Given the description of an element on the screen output the (x, y) to click on. 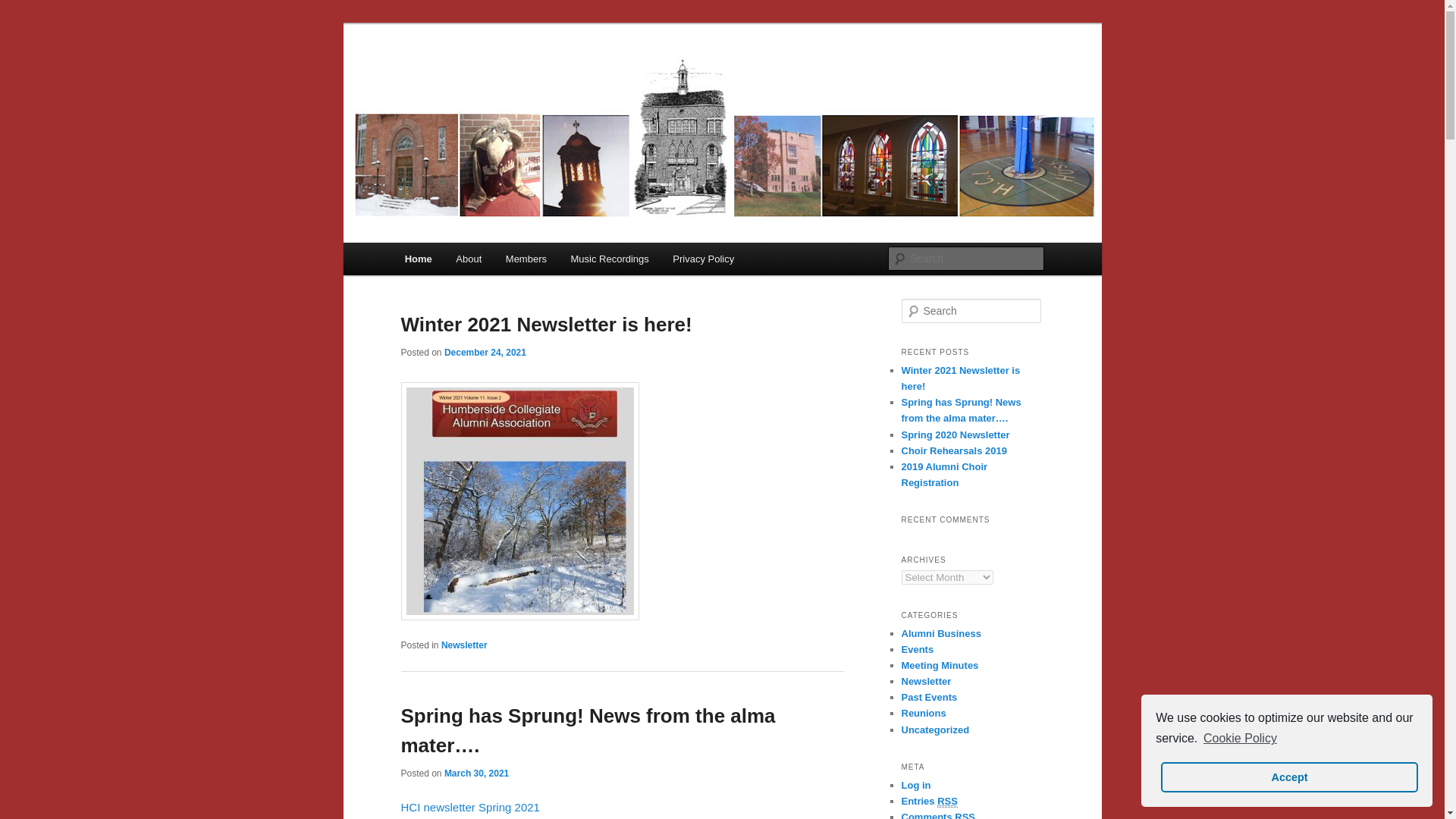
12:06 am (484, 352)
Cookie Policy (1238, 738)
Music Recordings (610, 258)
March 30, 2021 (476, 773)
December 24, 2021 (484, 352)
Home (418, 258)
Humberside Alumni Association (574, 78)
Members (526, 258)
Newsletter (464, 644)
Accept (1288, 777)
Search (24, 8)
HCI newsletter Spring 2021 (469, 807)
Privacy Policy (703, 258)
Winter 2021 Newsletter is here! (545, 323)
